Given the description of an element on the screen output the (x, y) to click on. 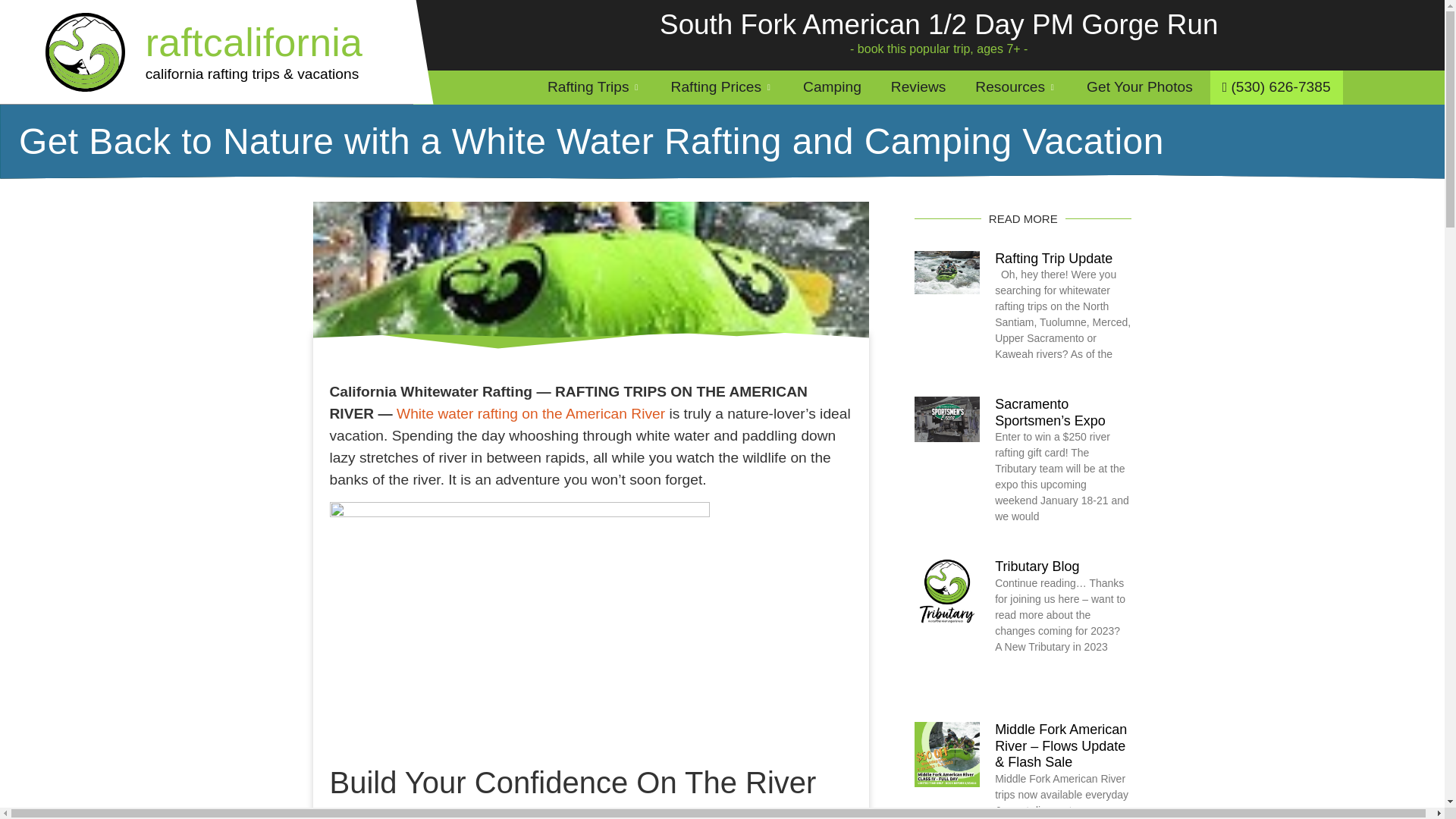
raftcalifornia (253, 42)
Reviews (918, 87)
Camping (832, 87)
